Given the description of an element on the screen output the (x, y) to click on. 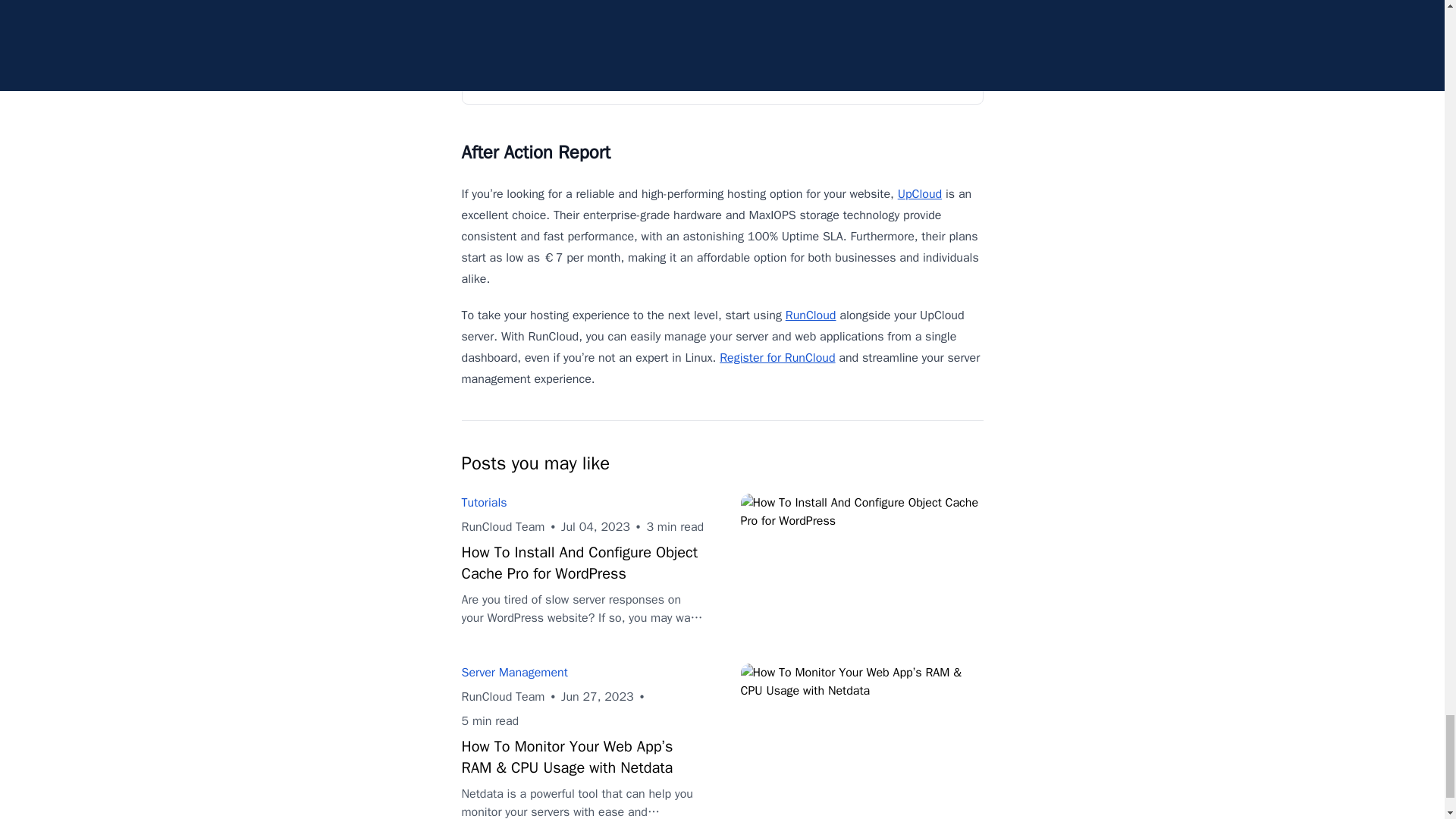
UpCloud (920, 193)
RunCloud (810, 314)
Register for RunCloud (776, 357)
